Given the description of an element on the screen output the (x, y) to click on. 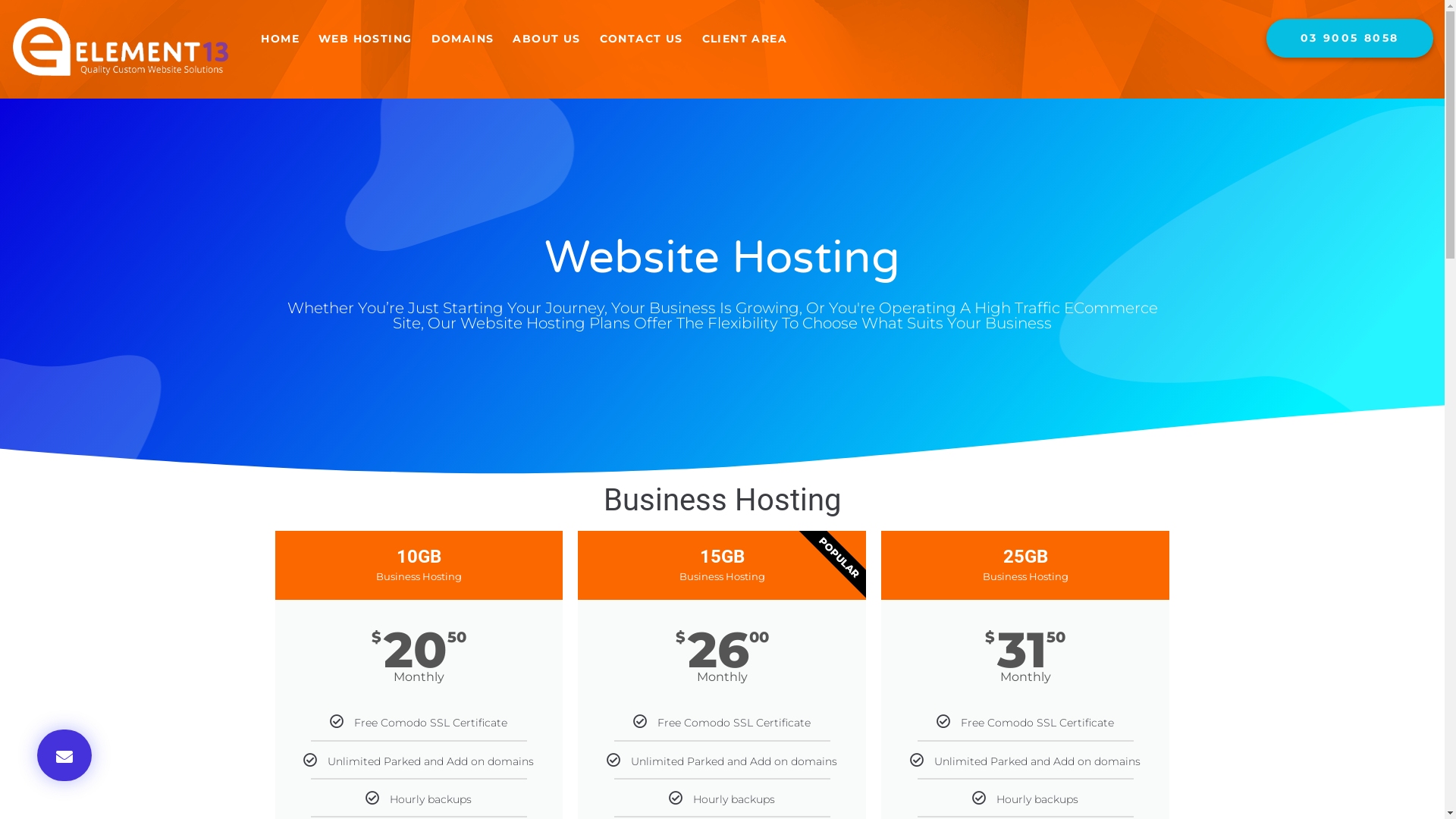
DOMAINS Element type: text (462, 38)
WEB HOSTING Element type: text (365, 38)
CONTACT US Element type: text (641, 38)
CLIENT AREA Element type: text (745, 38)
HOME Element type: text (280, 38)
ABOUT US Element type: text (546, 38)
03 9005 8058 Element type: text (1349, 37)
